Given the description of an element on the screen output the (x, y) to click on. 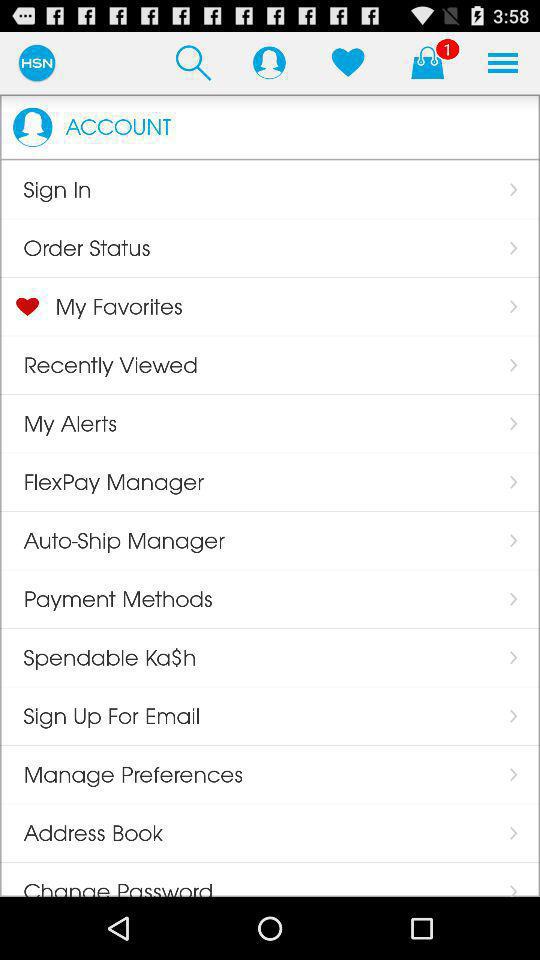
view shopping bag (427, 62)
